Given the description of an element on the screen output the (x, y) to click on. 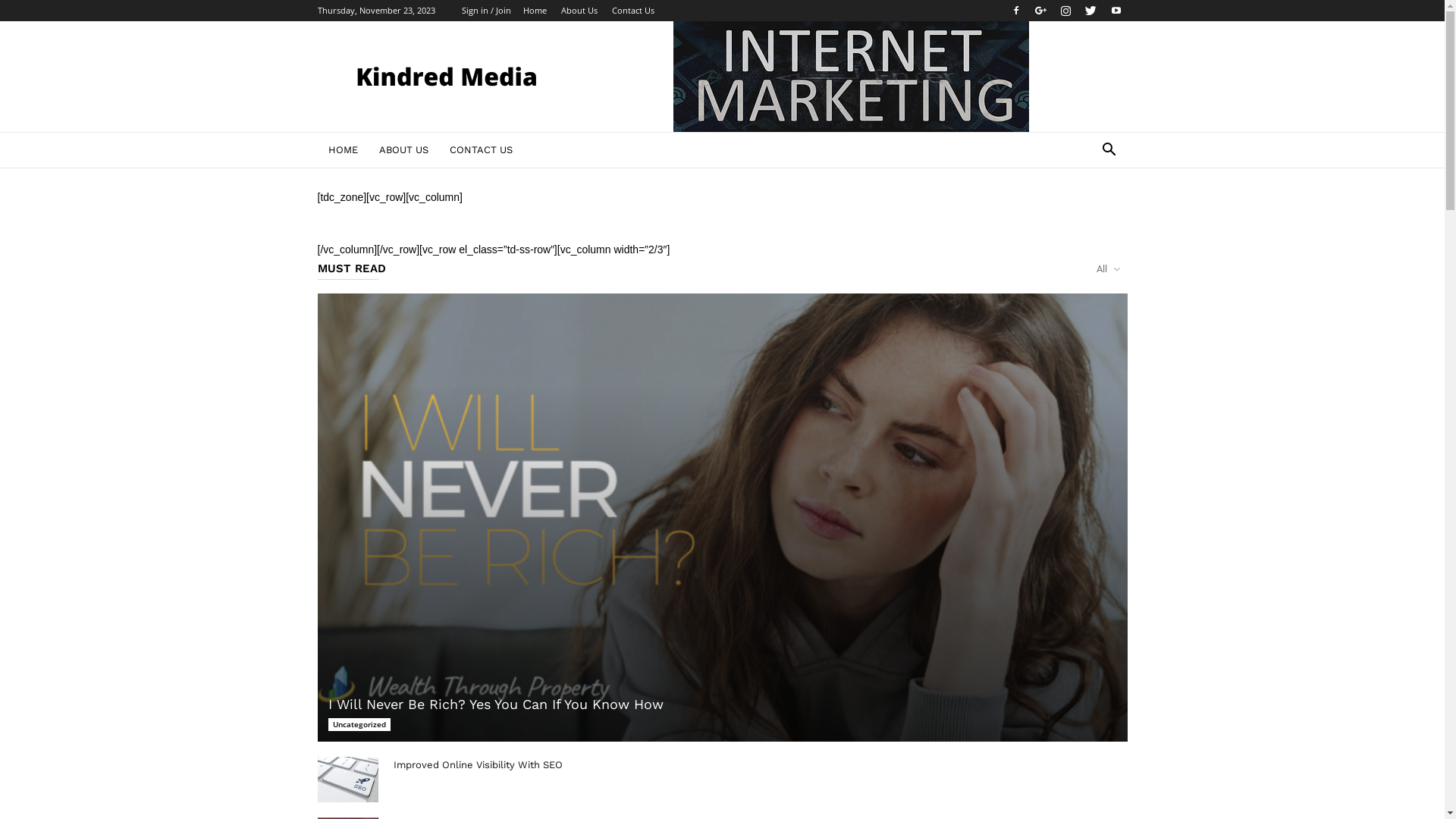
Google+ Element type: hover (1040, 10)
CONTACT US Element type: text (480, 149)
I Will Never Be Rich? Yes You Can If You Know How Element type: hover (721, 517)
Sign in / Join Element type: text (485, 9)
Uncategorized Element type: text (358, 724)
Improved Online Visibility With SEO Element type: hover (346, 779)
Twitter Element type: hover (1090, 10)
I Will Never Be Rich? Yes You Can If You Know How Element type: text (494, 704)
ABOUT US Element type: text (403, 149)
Home Element type: text (534, 9)
Youtube Element type: hover (1115, 10)
Instagram Element type: hover (1065, 10)
Search Element type: text (1085, 210)
Improved Online Visibility With SEO Element type: text (476, 764)
Facebook Element type: hover (1015, 10)
HOME Element type: text (341, 149)
Contact Us Element type: text (632, 9)
About Us Element type: text (579, 9)
